Given the description of an element on the screen output the (x, y) to click on. 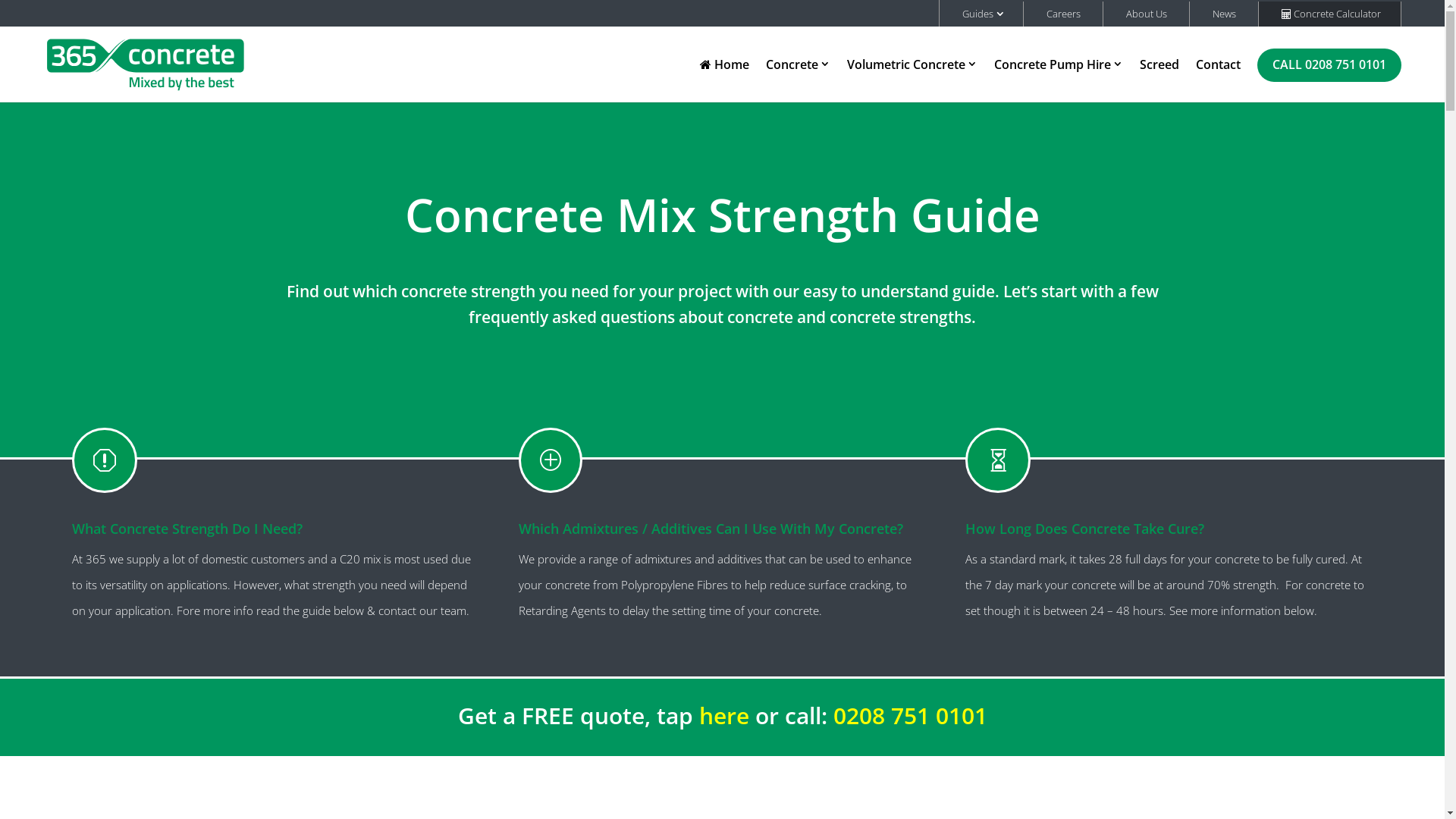
Careers Element type: text (1061, 13)
here Element type: text (724, 715)
News Element type: text (1222, 13)
Screed Element type: text (1159, 80)
Guides Element type: text (979, 13)
Concrete Calculator Element type: text (1329, 13)
Contact Element type: text (1217, 80)
CALL 0208 751 0101 Element type: text (1329, 80)
About Us Element type: text (1144, 13)
Volumetric Concrete Element type: text (912, 78)
Concrete Element type: text (797, 78)
Concrete Pump Hire Element type: text (1058, 78)
0208 751 0101 Element type: text (909, 715)
Home Element type: text (724, 79)
